Given the description of an element on the screen output the (x, y) to click on. 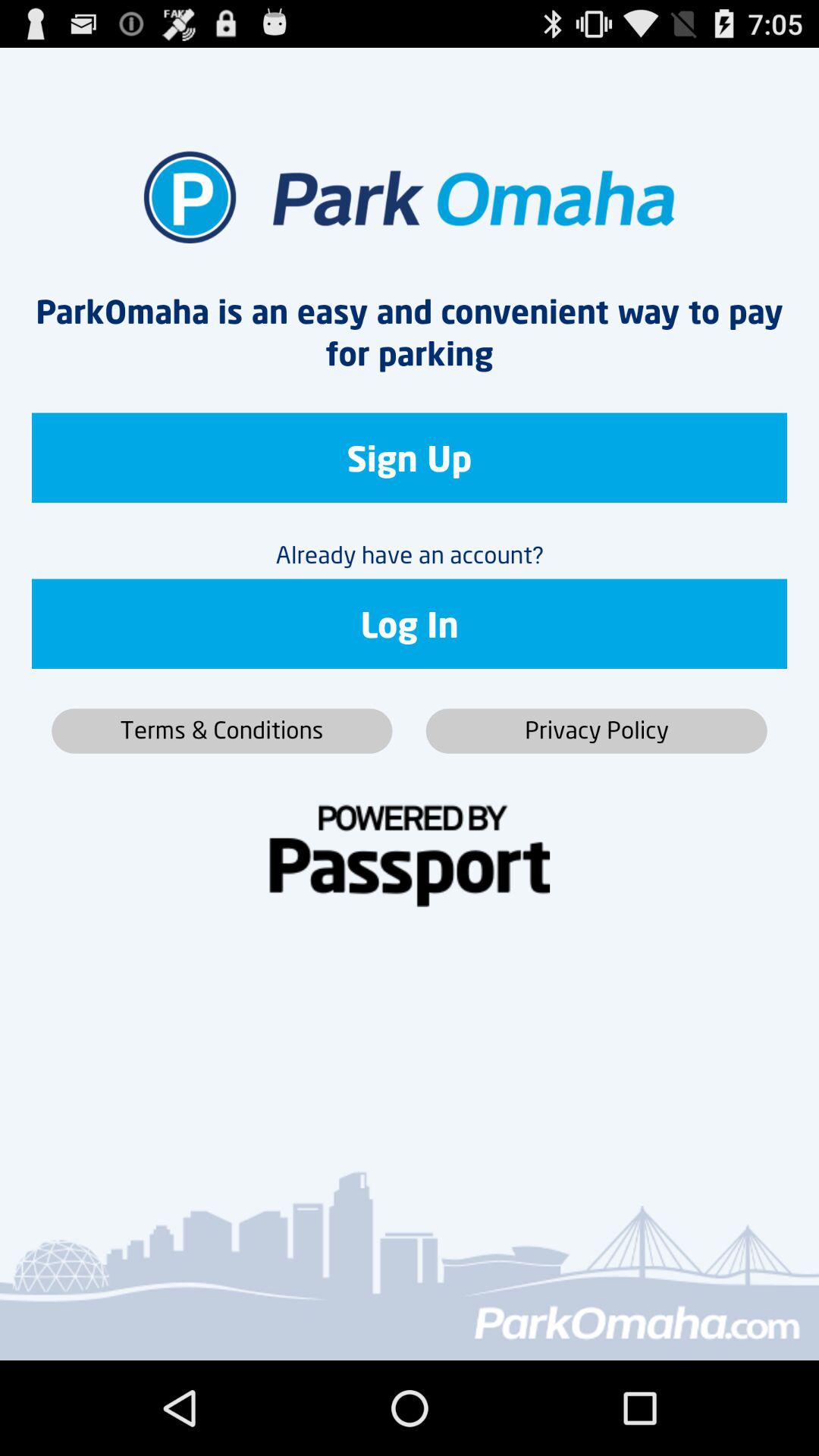
open the privacy policy item (596, 730)
